Given the description of an element on the screen output the (x, y) to click on. 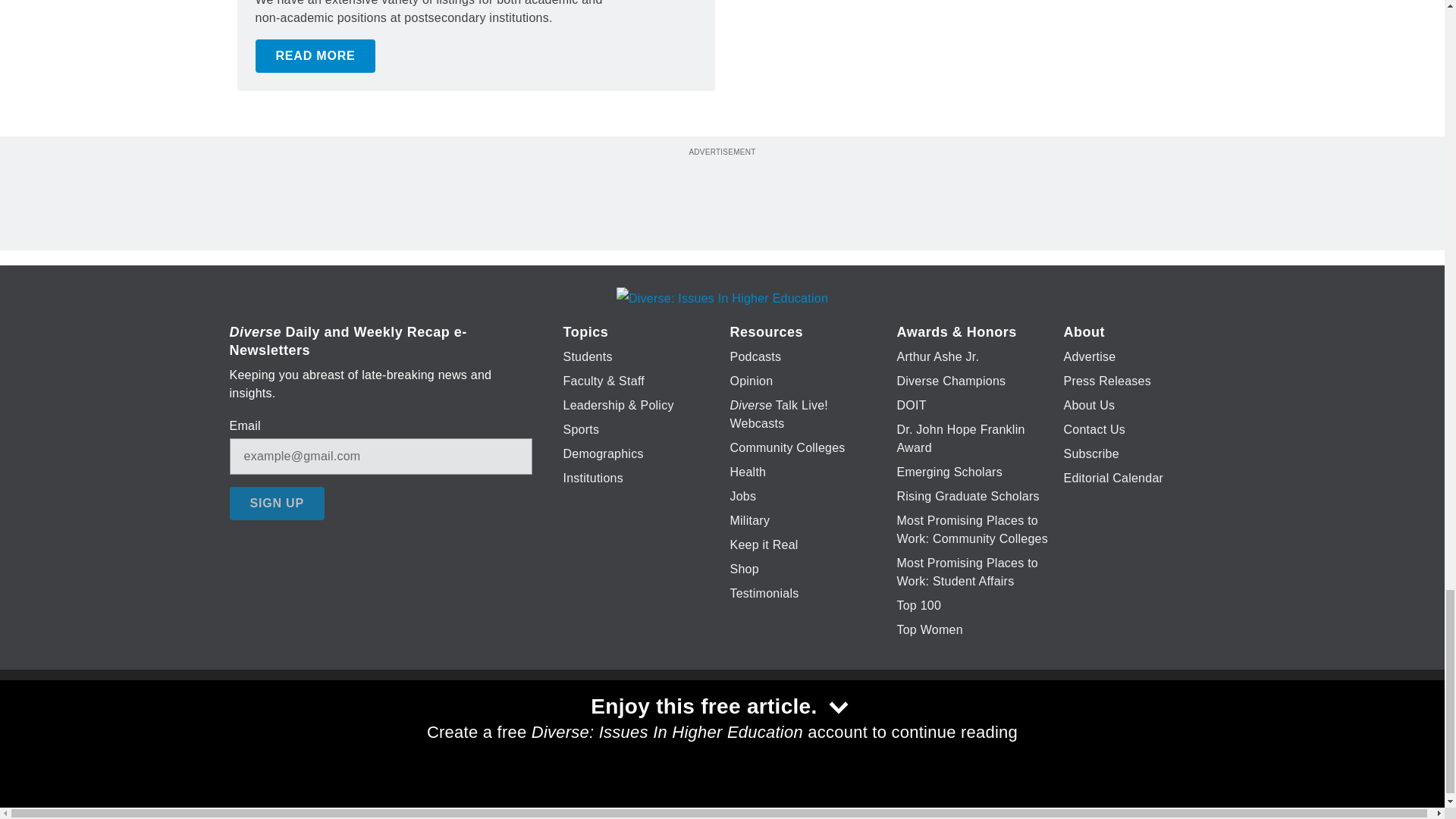
YouTube icon (757, 727)
Facebook icon (635, 727)
Instagram icon (796, 727)
Twitter X icon (674, 727)
LinkedIn icon (718, 727)
